Given the description of an element on the screen output the (x, y) to click on. 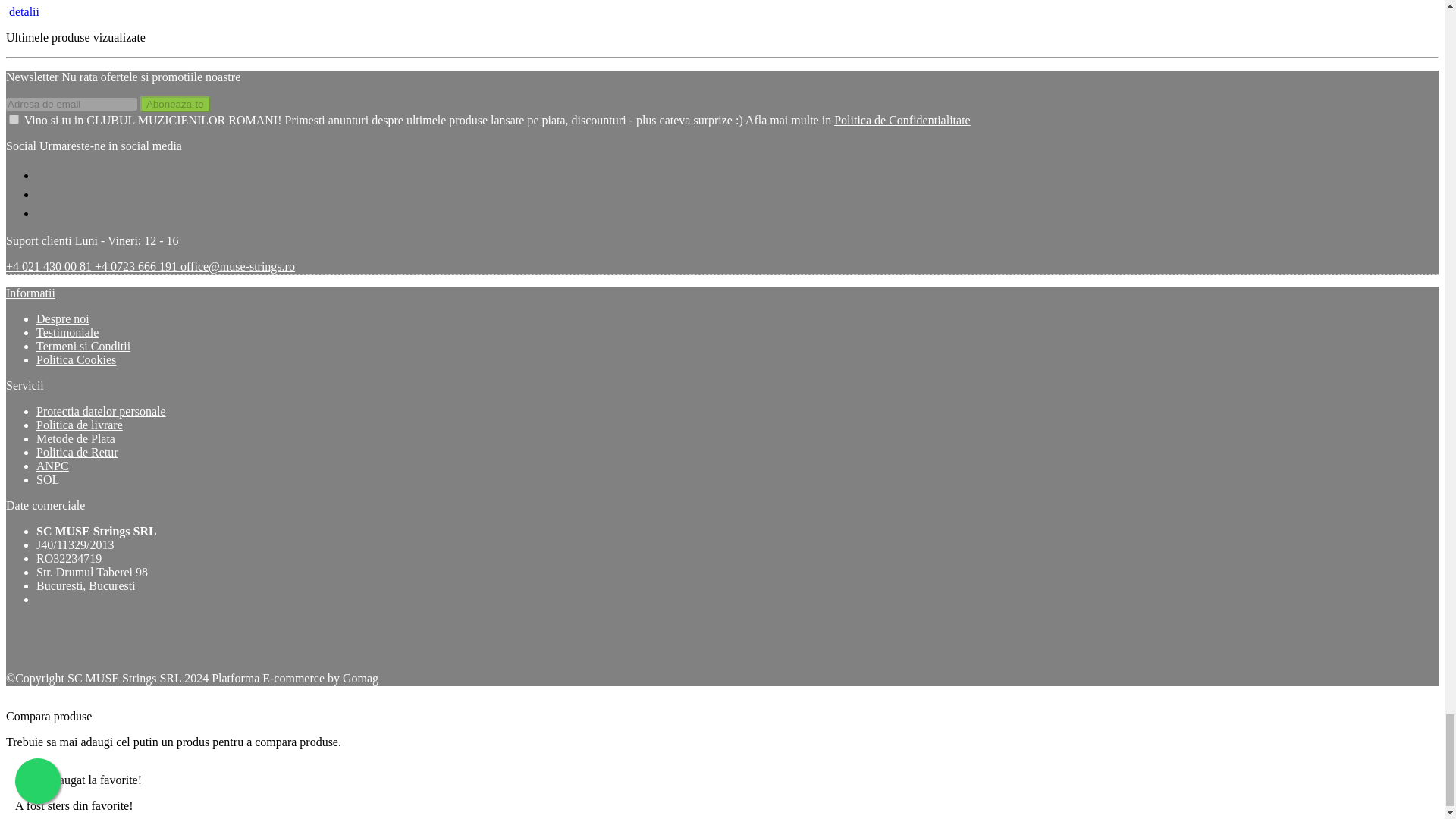
71c765a4f37add4e6a8e63b7925b9012 (13, 119)
Aboneaza-te (174, 104)
